Given the description of an element on the screen output the (x, y) to click on. 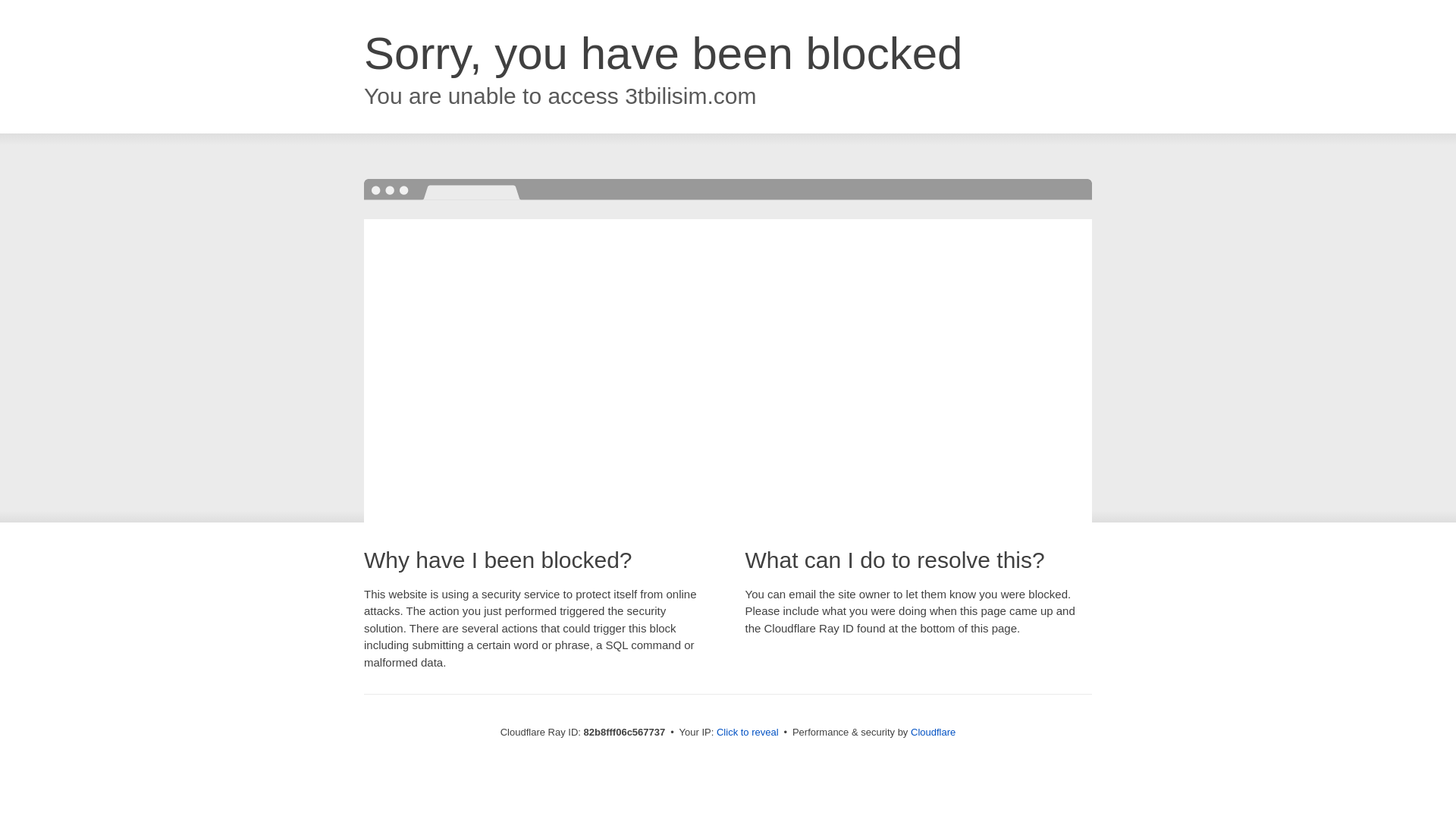
Cloudflare Element type: text (932, 731)
Click to reveal Element type: text (747, 732)
